Given the description of an element on the screen output the (x, y) to click on. 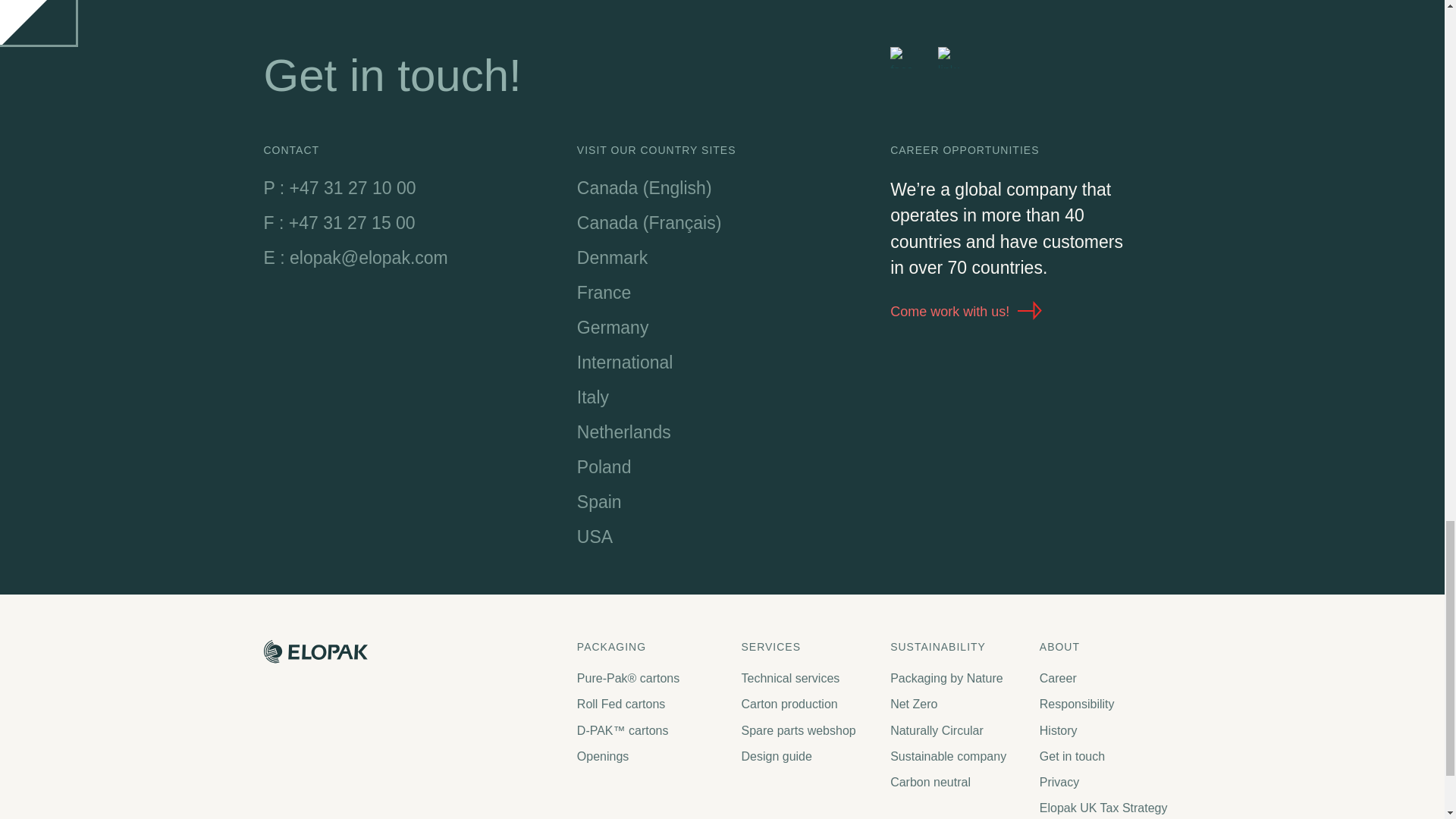
Packaging (651, 646)
Services (808, 646)
